Given the description of an element on the screen output the (x, y) to click on. 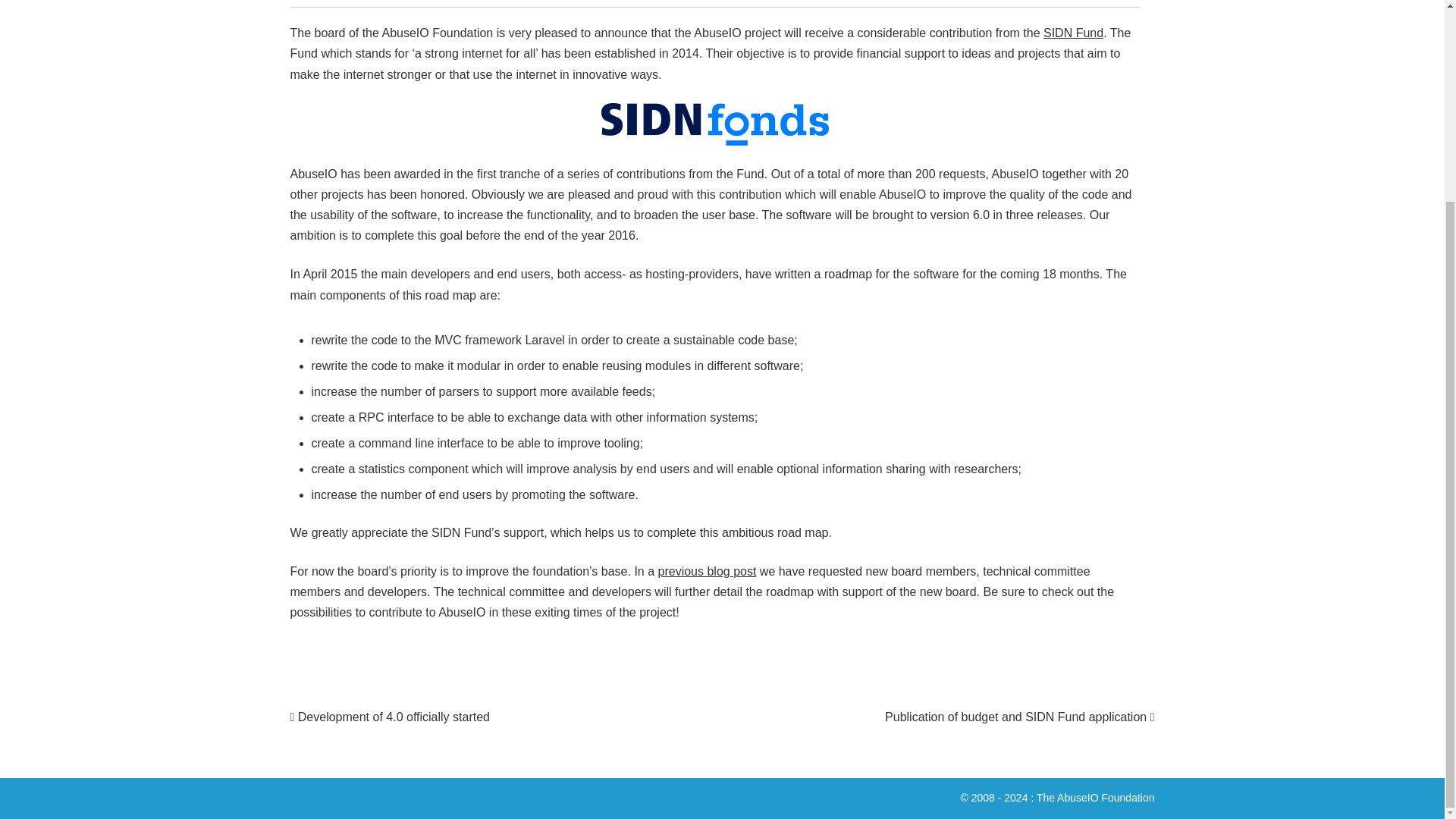
Publication of budget and SIDN Fund application (1019, 716)
previous blog post (707, 571)
Development of 4.0 officially started (389, 716)
SIDN Fund (1073, 32)
